Given the description of an element on the screen output the (x, y) to click on. 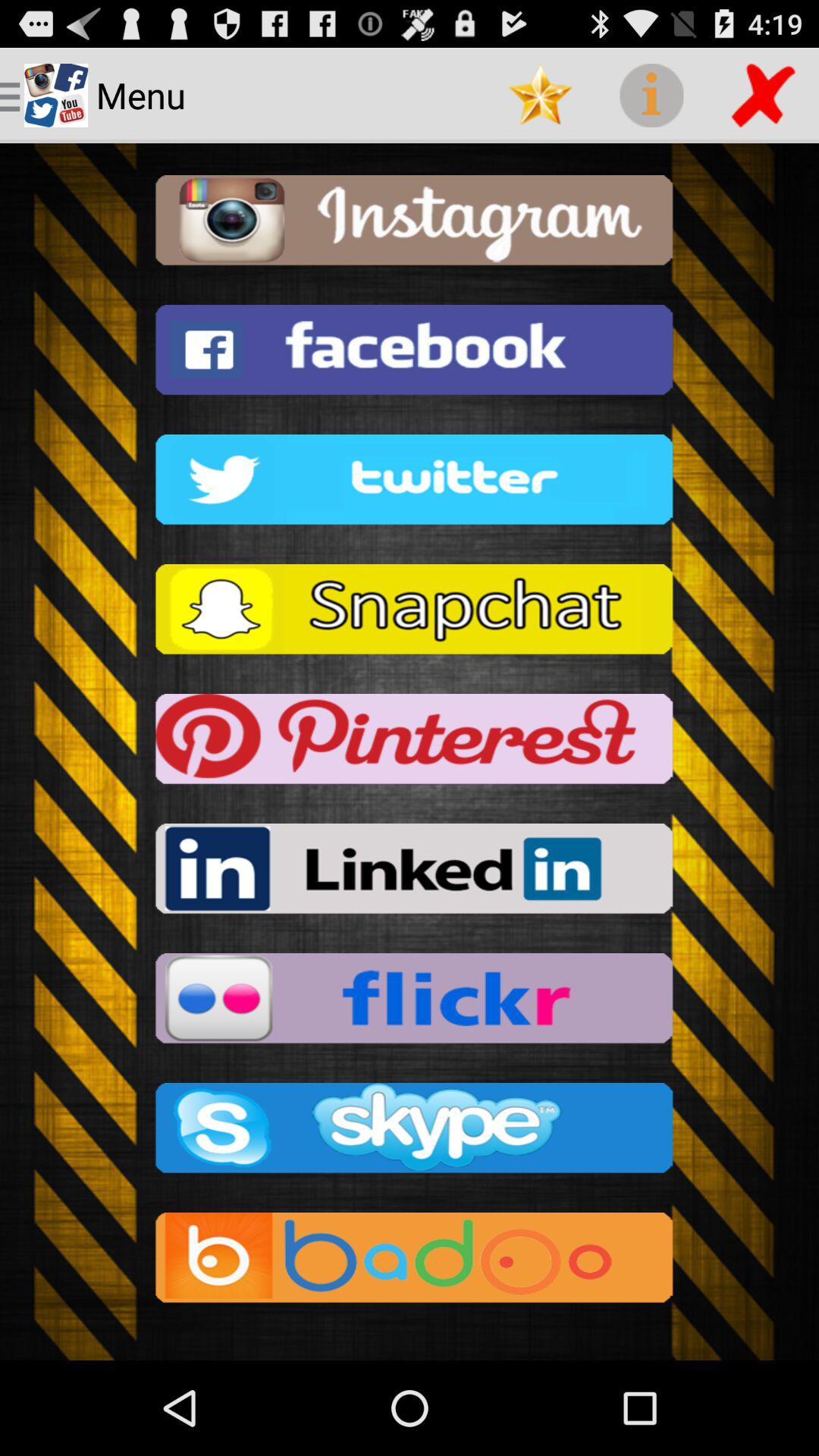
open flickr (409, 1002)
